Given the description of an element on the screen output the (x, y) to click on. 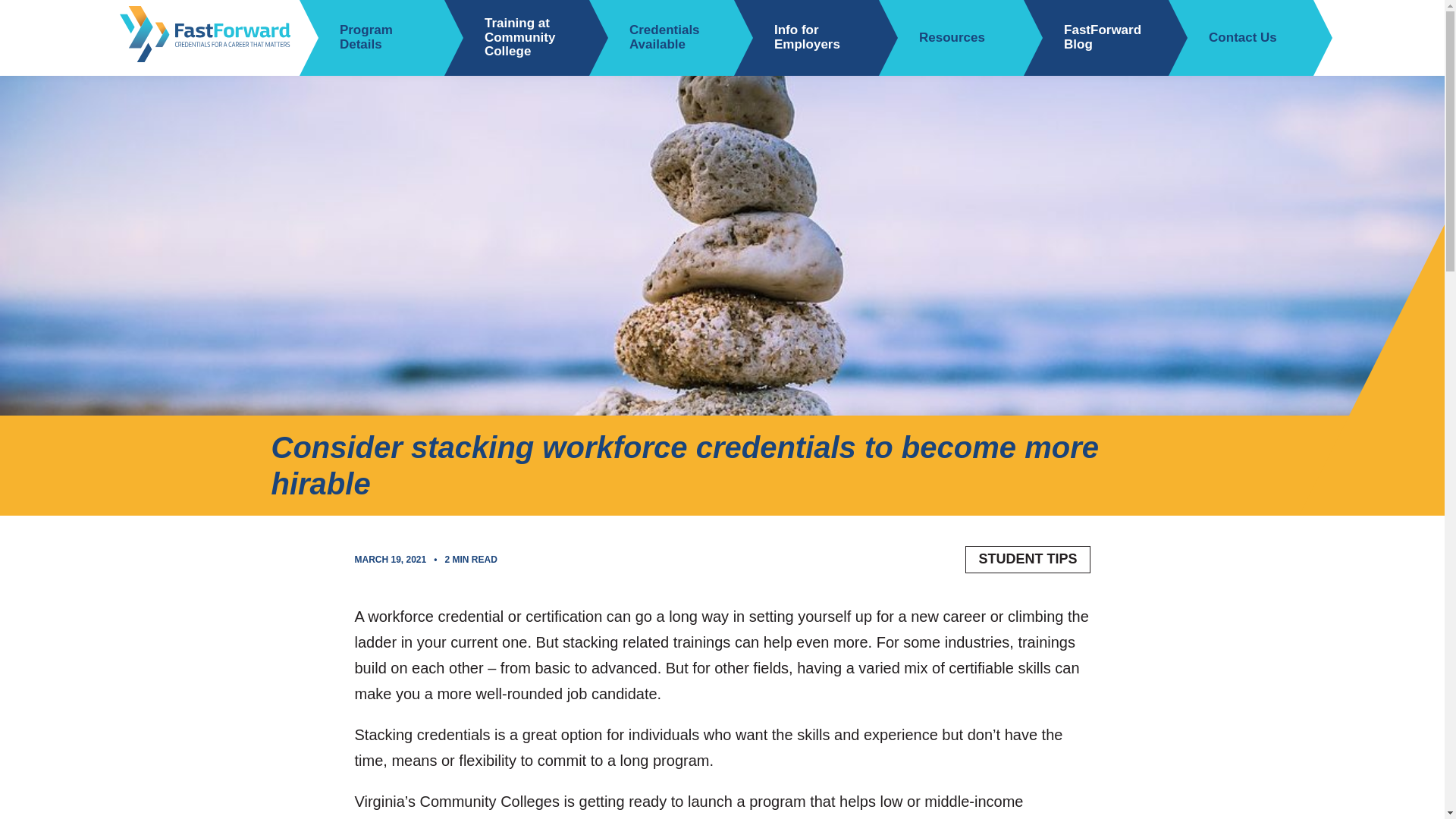
Training at Community College (516, 37)
Info for Employers (806, 37)
Resources (939, 37)
FastForward Blog (1096, 37)
Fast Forward (209, 38)
FastForward Blog (1096, 37)
Contact Us (1230, 37)
Training at Community College (516, 37)
STUDENT TIPS (1027, 559)
Credentials Available (661, 37)
Contact Us (1230, 37)
Resources (939, 37)
Program Details (371, 37)
Info for Employers (806, 37)
Credentials Available (661, 37)
